Given the description of an element on the screen output the (x, y) to click on. 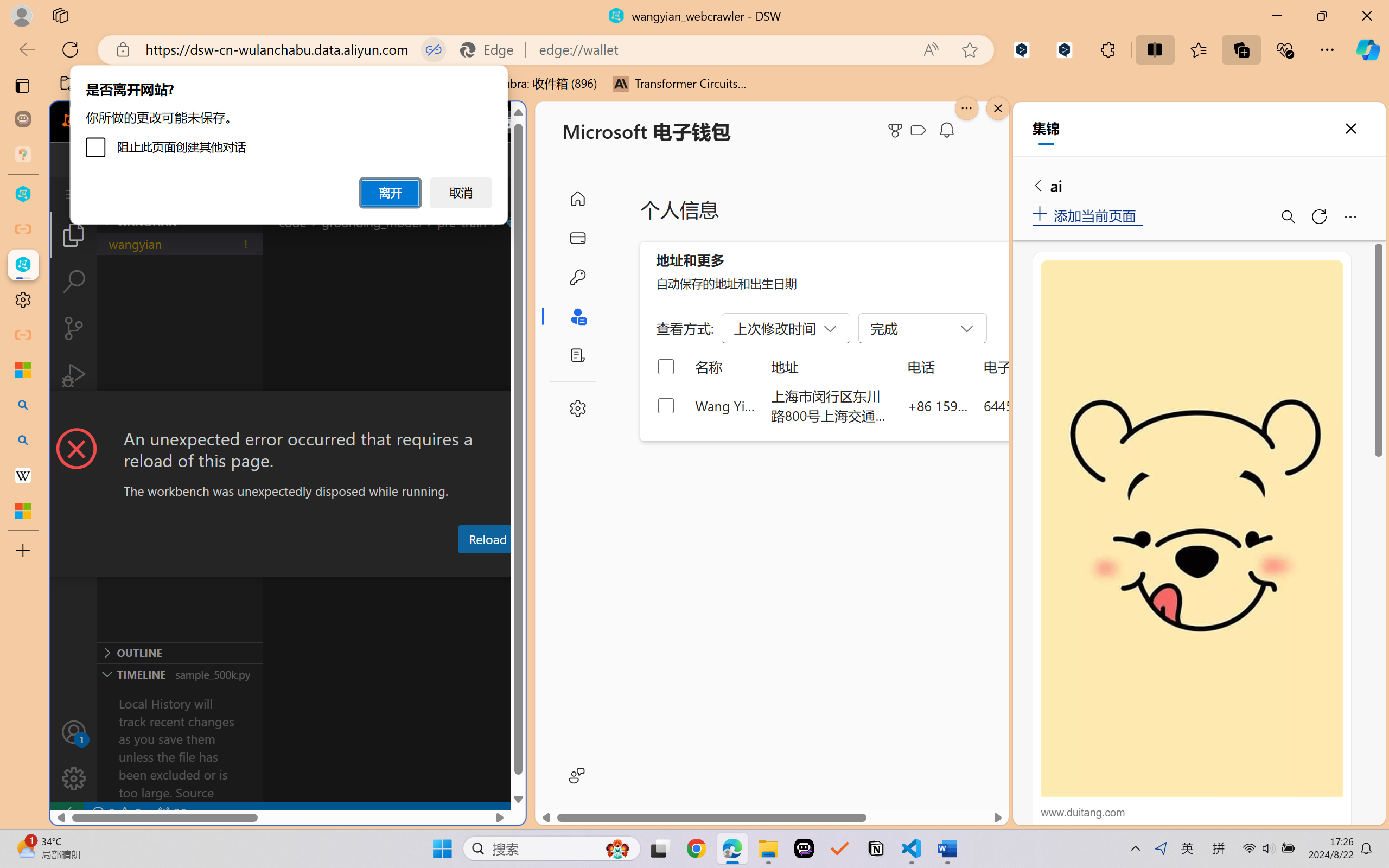
Microsoft security help and learning (22, 369)
Class: actions-container (287, 410)
Close Dialog (520, 410)
Extensions (Ctrl+Shift+X) (73, 422)
